Given the description of an element on the screen output the (x, y) to click on. 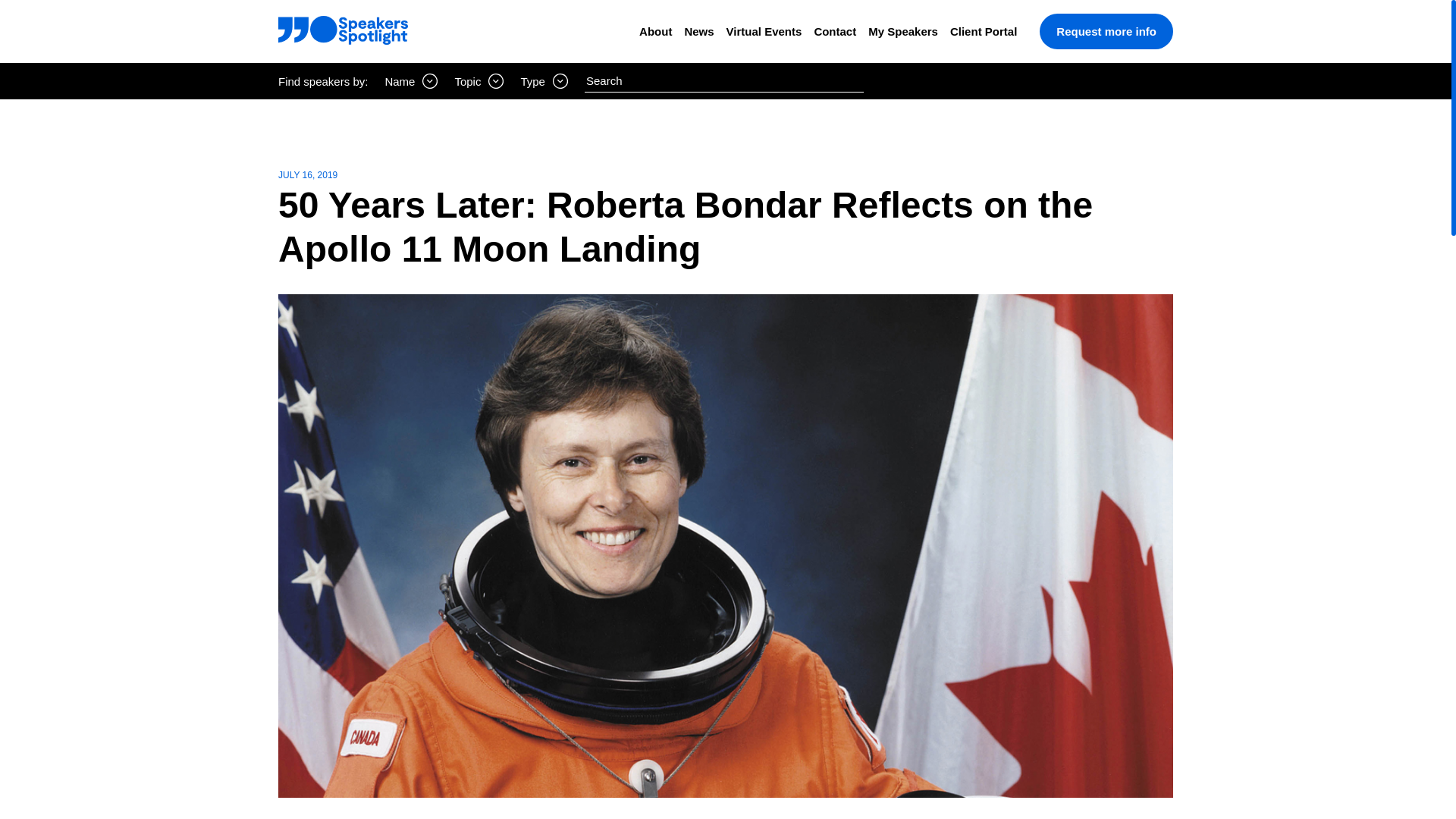
Contact (834, 31)
Client Portal (983, 31)
My Speakers (902, 31)
Name (411, 80)
Request more info (1106, 31)
News (698, 31)
About (655, 31)
Virtual Events (764, 31)
